Given the description of an element on the screen output the (x, y) to click on. 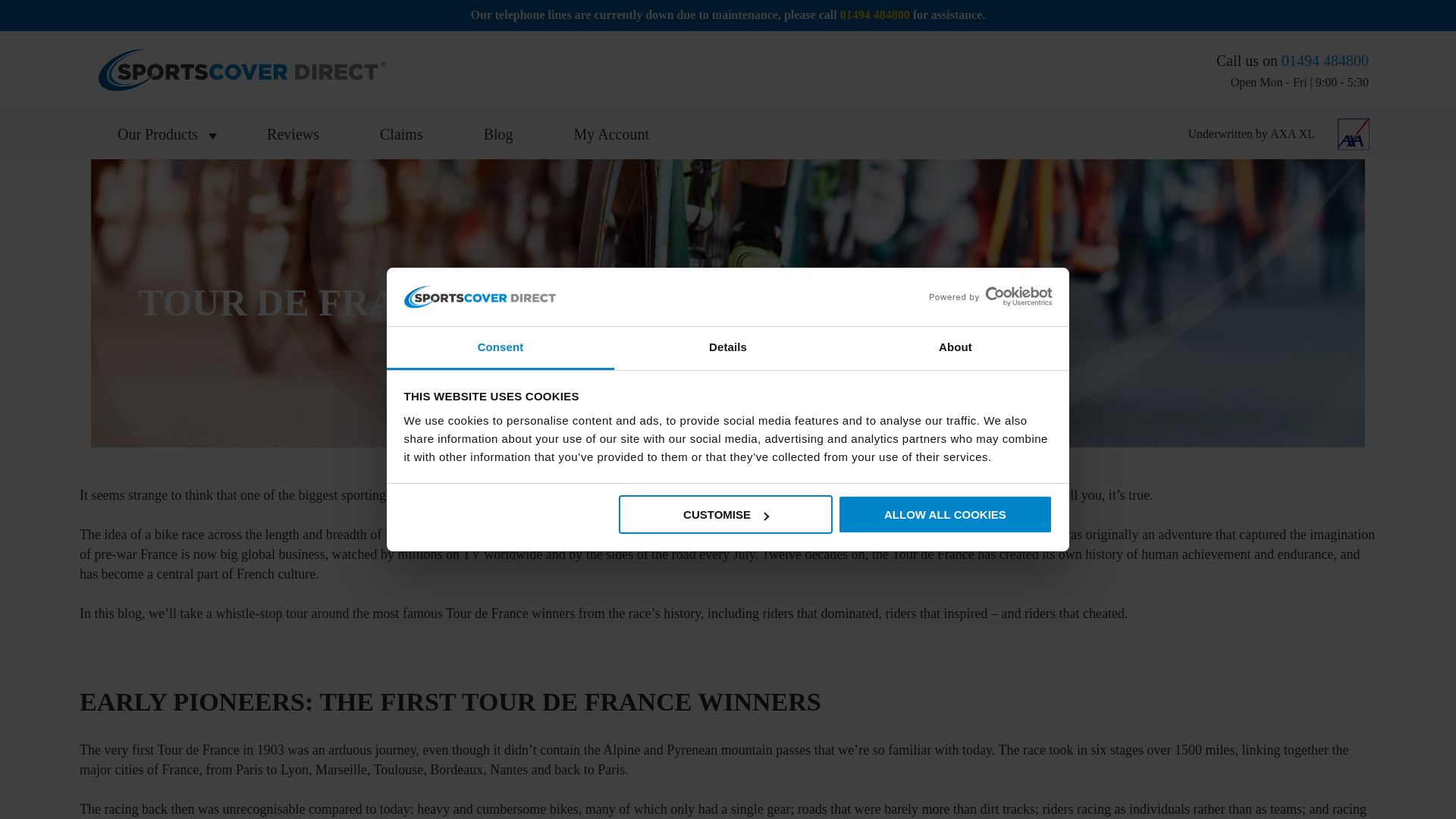
Details (727, 348)
About (954, 348)
Consent (500, 348)
